Given the description of an element on the screen output the (x, y) to click on. 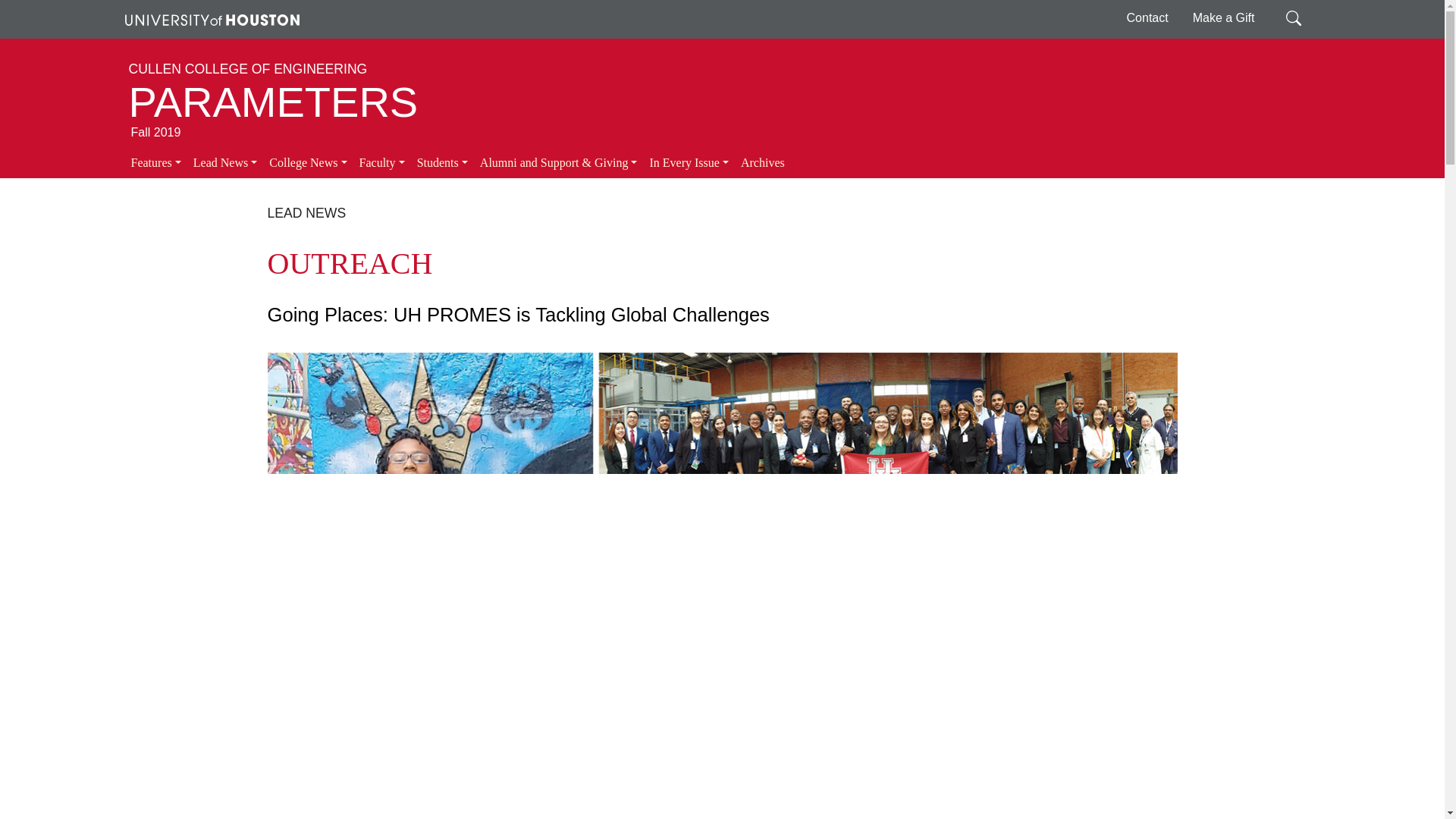
Features (154, 163)
Students (442, 163)
Make a Gift (1223, 18)
PARAMETERS (274, 101)
Archives (762, 163)
Make a Gift (1223, 18)
Contact (1147, 18)
College News (307, 163)
CULLEN COLLEGE OF ENGINEERING (248, 68)
Students (442, 163)
Faculty (381, 163)
Features (154, 163)
College News (307, 163)
Lead News (225, 163)
Faculty (381, 163)
